Given the description of an element on the screen output the (x, y) to click on. 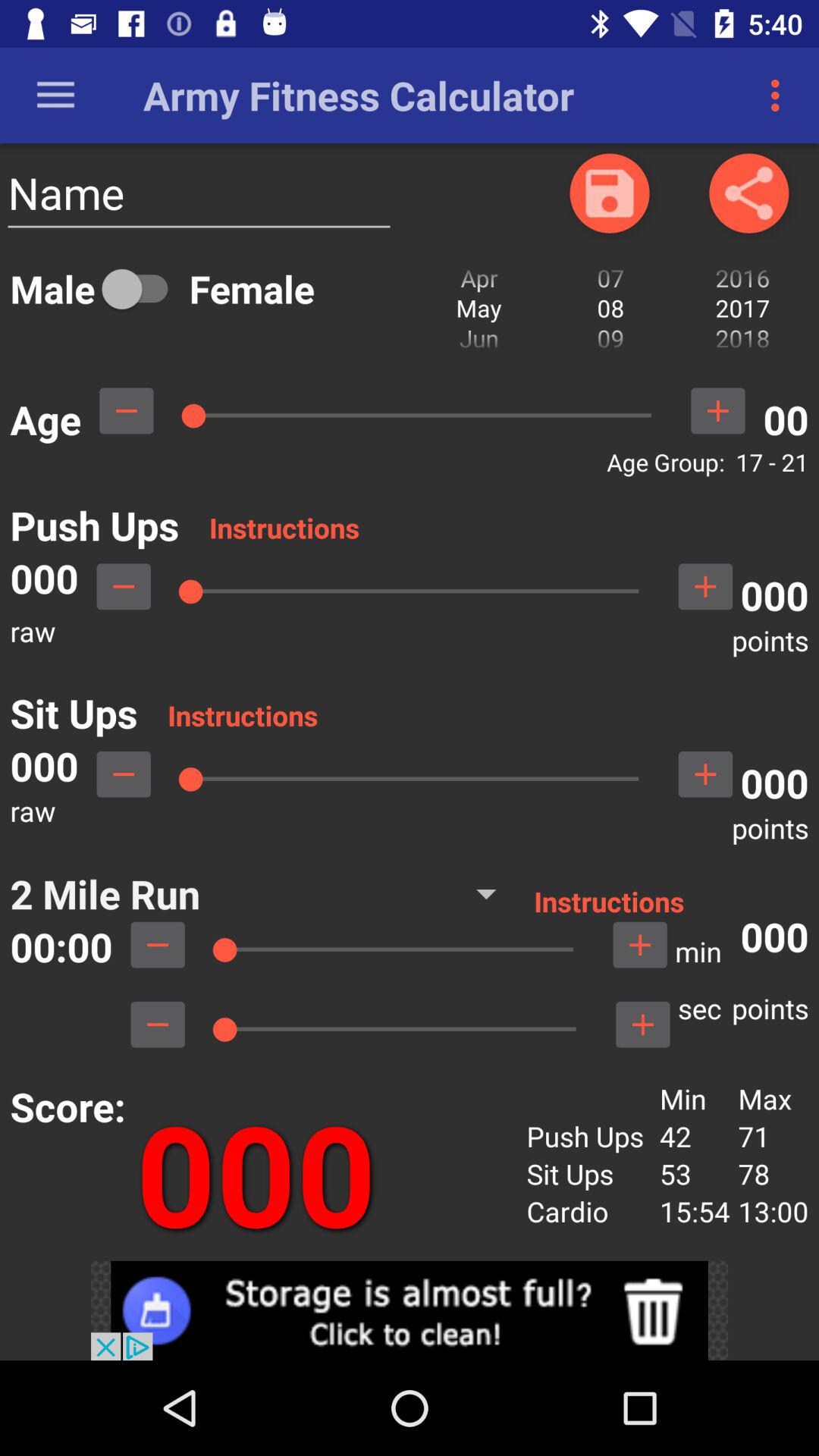
share (748, 193)
